Given the description of an element on the screen output the (x, y) to click on. 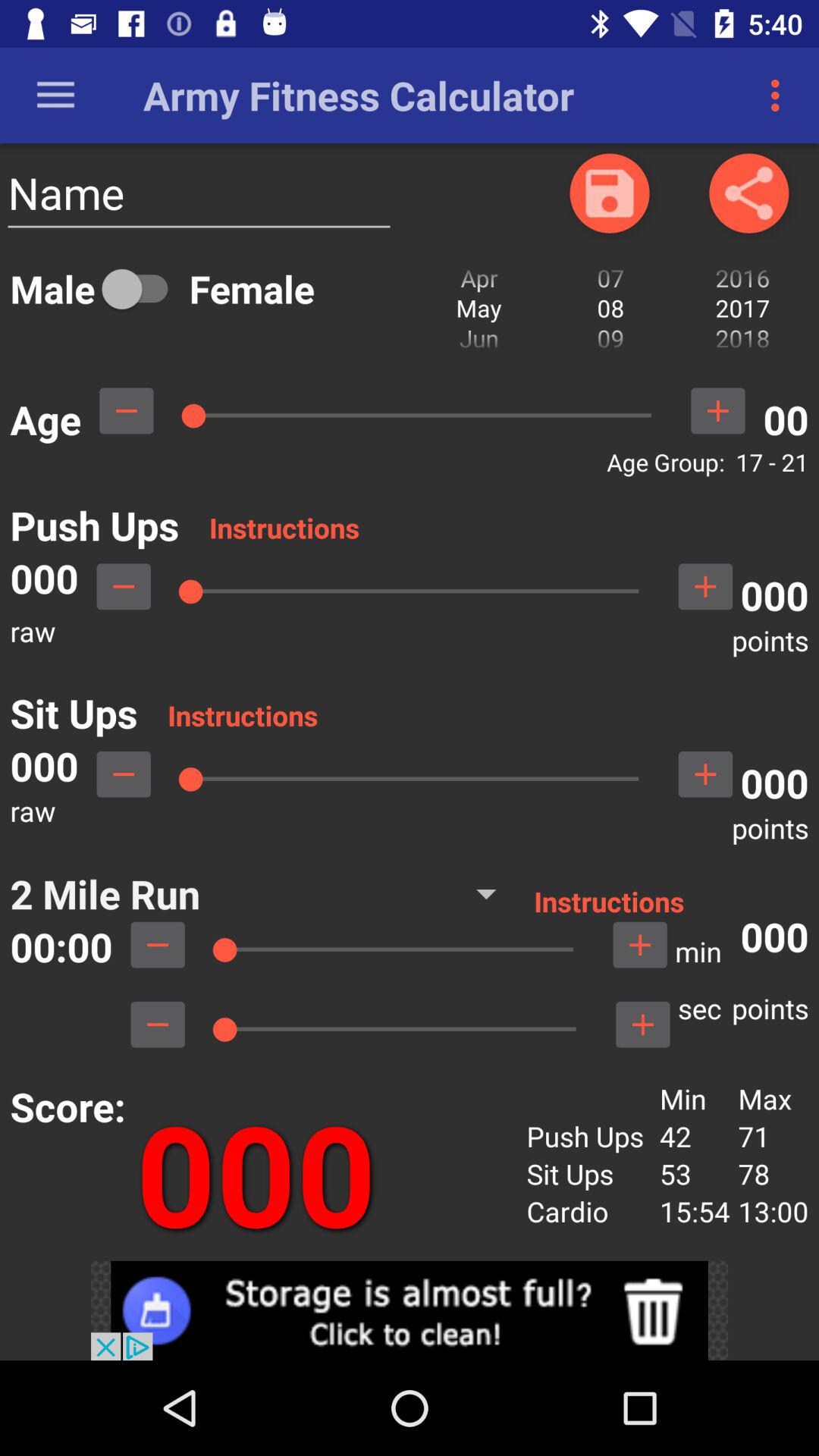
share (748, 193)
